Given the description of an element on the screen output the (x, y) to click on. 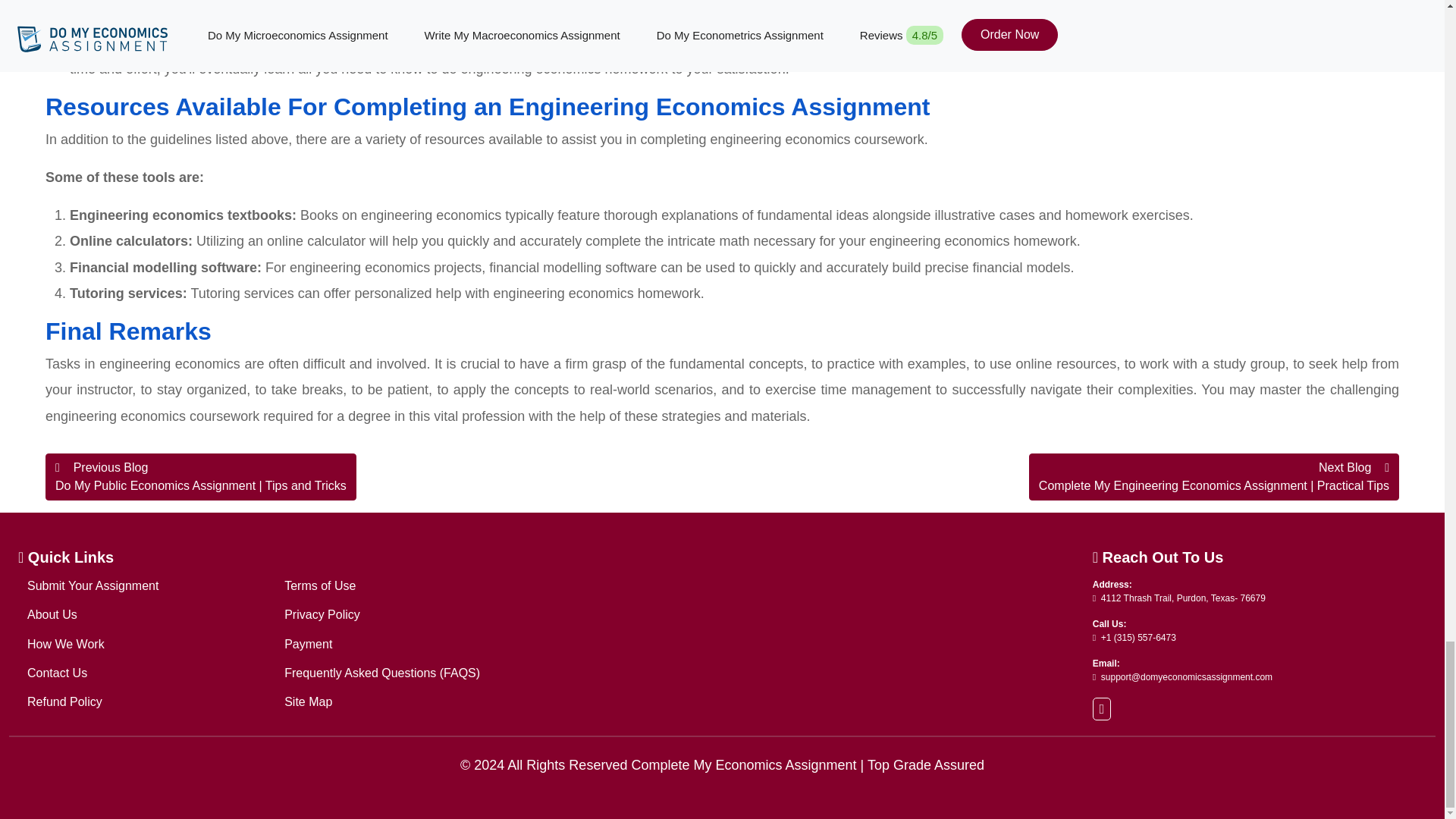
Refund Policy (64, 701)
Privacy Policy (321, 614)
How We Work (65, 644)
Site Map (307, 701)
Contact Us (57, 672)
Payment (307, 644)
Submit Your Assignment (92, 585)
About Us (52, 614)
Terms of Use (319, 585)
